Given the description of an element on the screen output the (x, y) to click on. 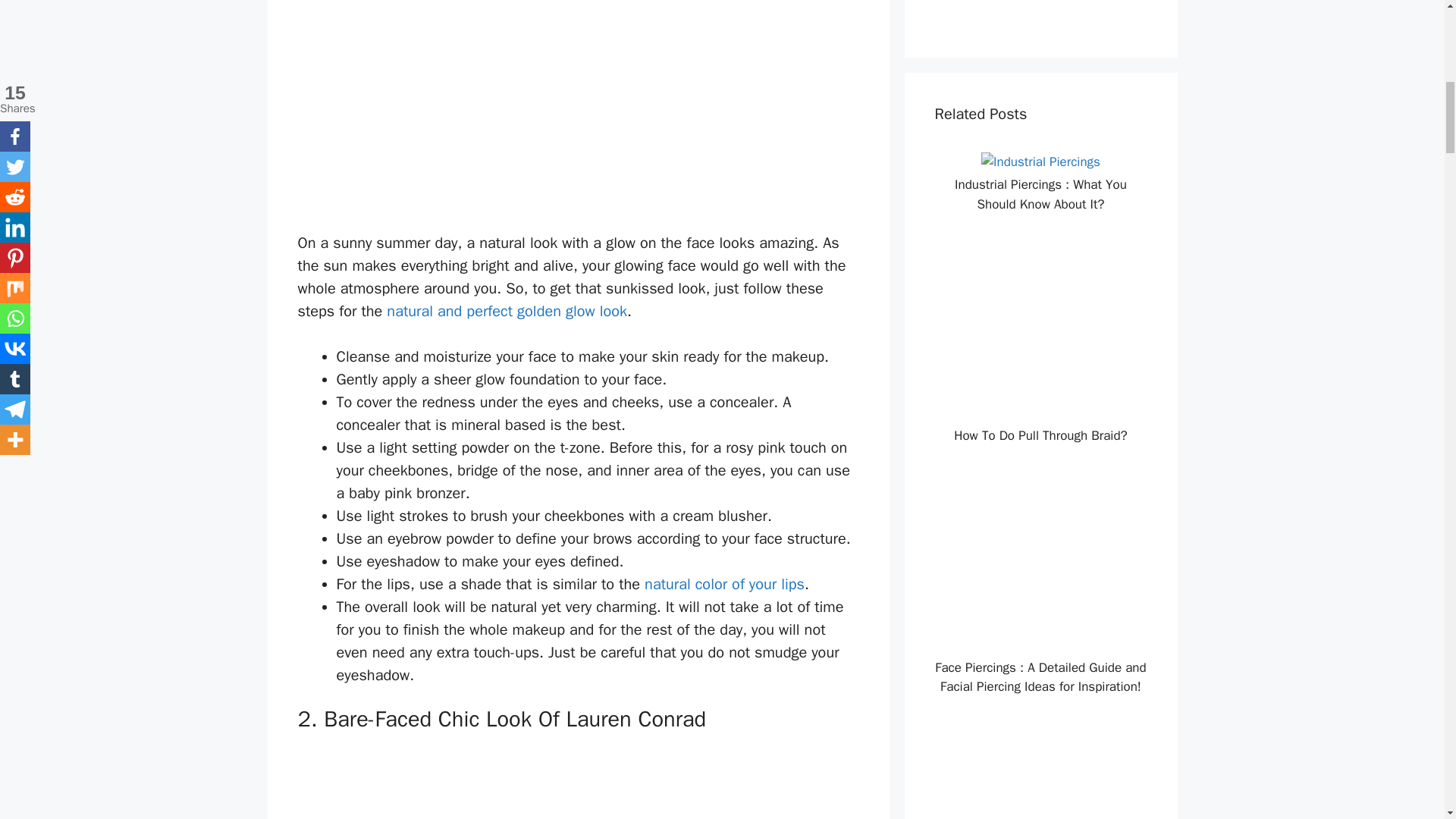
natural color of your lips (725, 583)
Bare-Faced Chic Look (448, 783)
natural and perfect golden glow look (507, 311)
Natural Golden Glow (448, 101)
